Given the description of an element on the screen output the (x, y) to click on. 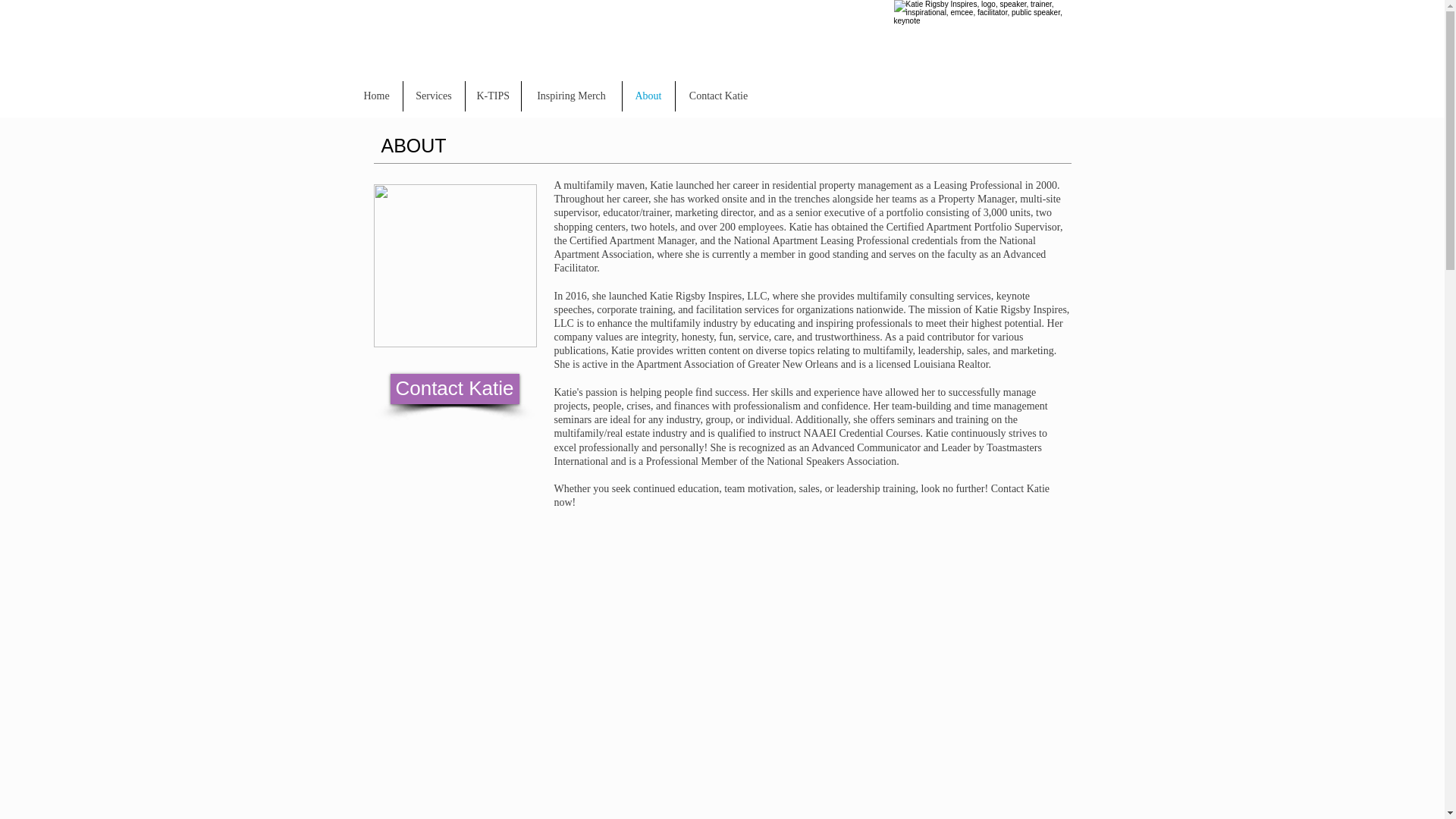
Contact Katie (454, 388)
Inspiring Merch (571, 96)
K-TIPS (493, 96)
Services (433, 96)
Contact Katie (718, 96)
Home (375, 96)
About (647, 96)
Katie Rigsby Inspires Logo (986, 61)
